Given the description of an element on the screen output the (x, y) to click on. 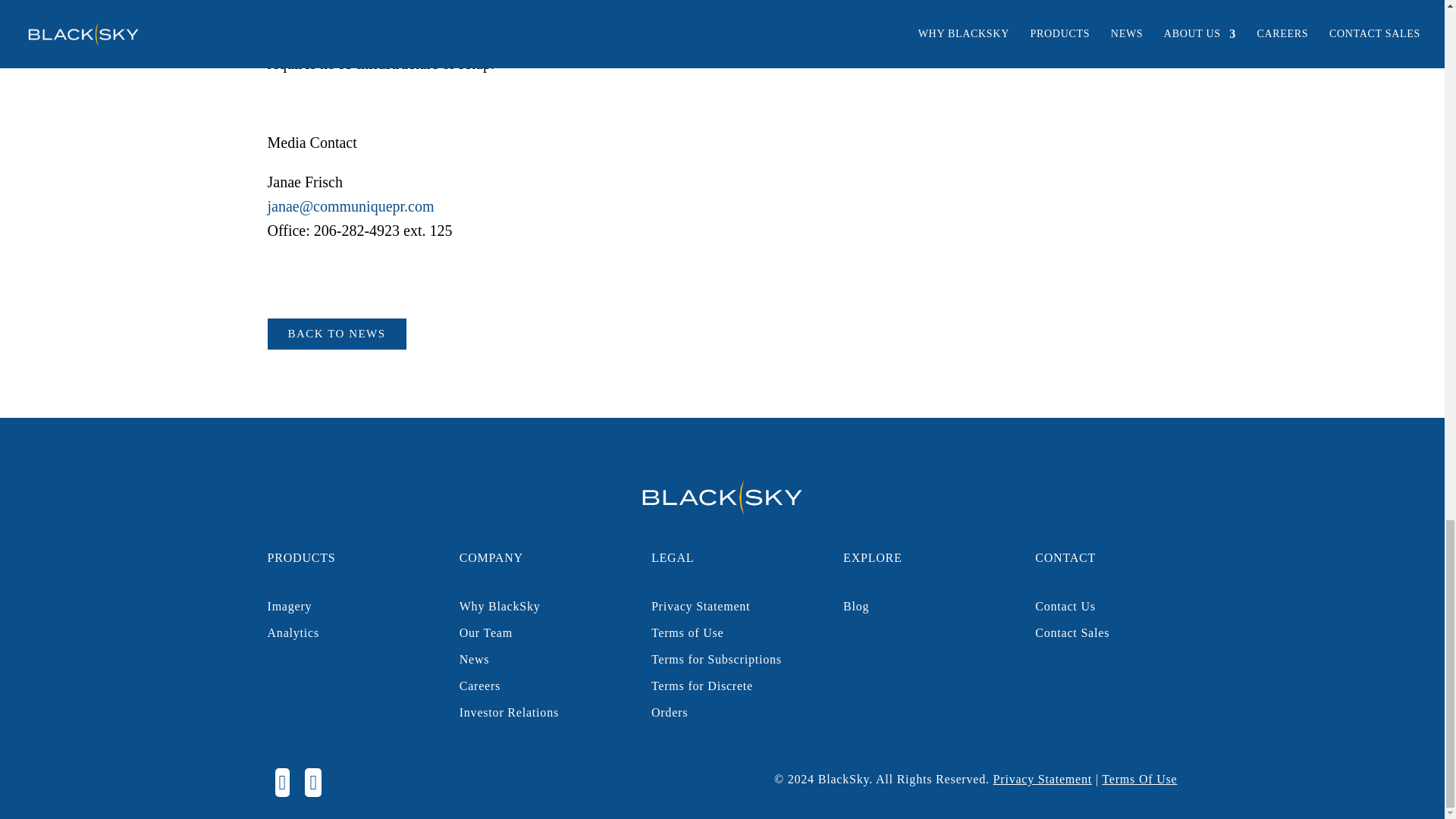
Investor Relations (509, 712)
Blog (856, 605)
Why BlackSky (500, 605)
Terms for Discrete Orders (701, 699)
Our Team (486, 632)
Terms for Subscriptions (715, 658)
Terms of Use (686, 632)
Analytics (292, 632)
News (474, 658)
Privacy Statement (1042, 779)
